Given the description of an element on the screen output the (x, y) to click on. 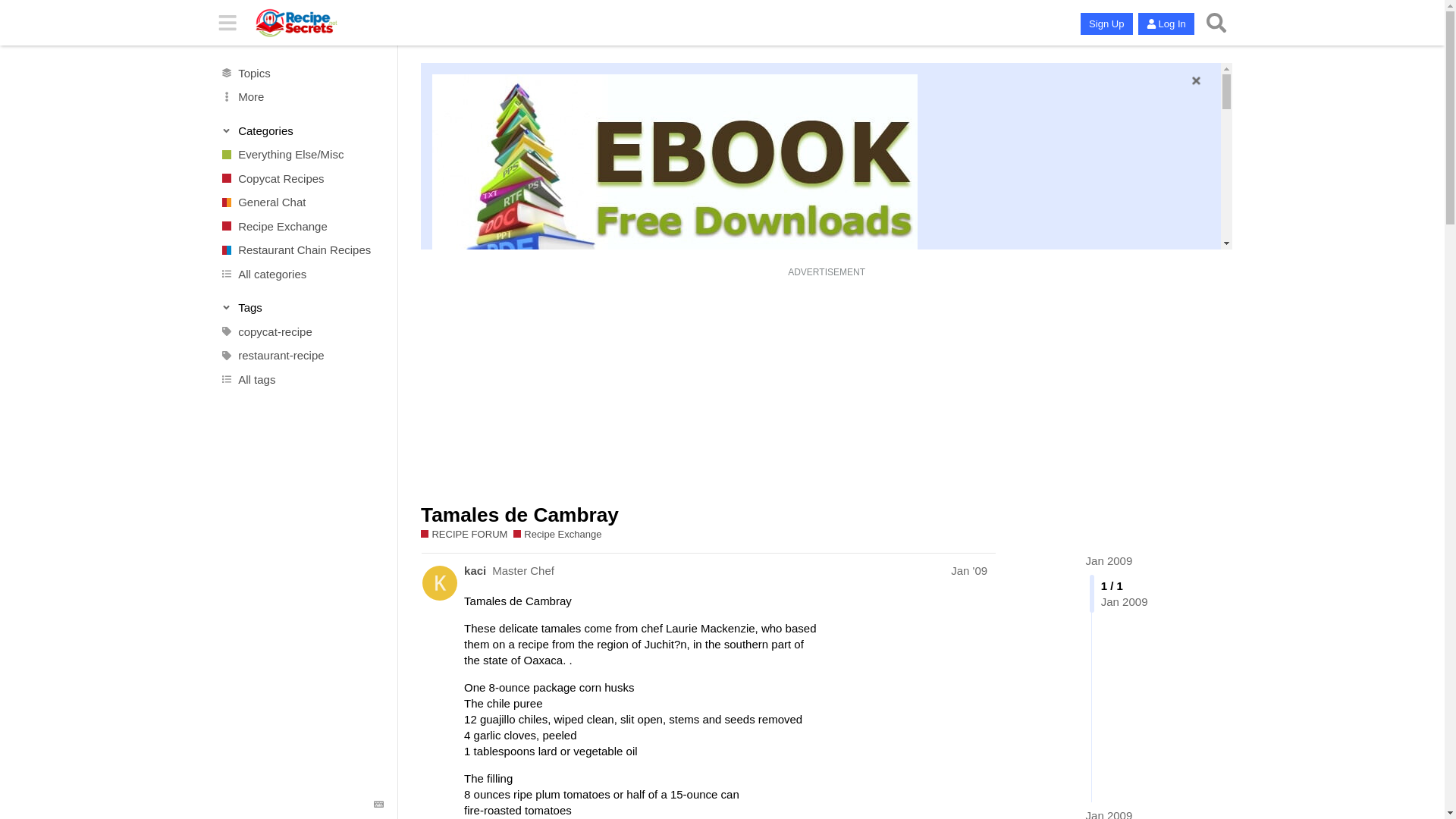
dips.pdf (459, 642)
Tags (301, 307)
copycat-recipe (301, 331)
Jan 2009 (1109, 813)
Log In (1165, 24)
Restaurant Chain Recipes (301, 250)
Jan 2009 (1109, 560)
chili600.pdf (467, 730)
Categories (301, 130)
wings.pdf (462, 509)
cheesecakerecipes.pdf (497, 553)
Jan 2009 (1109, 560)
restaurant-recipe (301, 355)
